Given the description of an element on the screen output the (x, y) to click on. 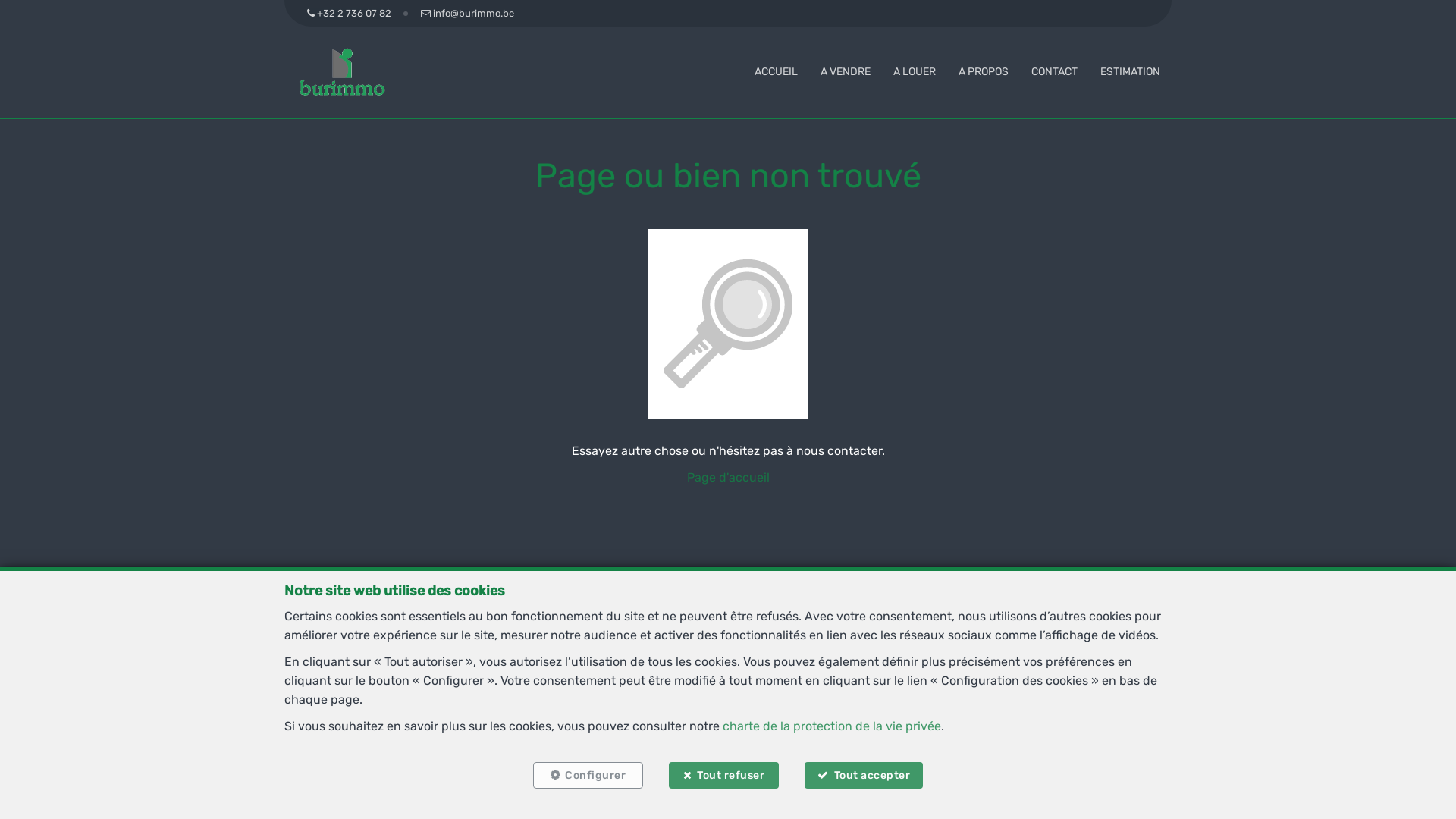
info@burimmo.be Element type: text (467, 13)
A PROPOS Element type: text (983, 71)
Page d'accueil Element type: text (728, 477)
Configuration des cookies Element type: text (909, 770)
+32 2 736 07 82 Element type: text (351, 13)
ESTIMATION Element type: text (1130, 71)
DESIGNED AND DEVELOPED BY WEBULOUS.IO Element type: text (791, 803)
02 736 07 82 Element type: text (691, 698)
ACCUEIL Element type: text (775, 71)
A LOUER Element type: text (914, 71)
Configurer Element type: text (588, 775)
POWERED BY WHISE Element type: text (592, 803)
CONTACT Element type: text (1054, 71)
Tout accepter Element type: text (863, 775)
Tout refuser Element type: text (723, 775)
A VENDRE Element type: text (845, 71)
info@burimmo.be Element type: text (776, 698)
